Given the description of an element on the screen output the (x, y) to click on. 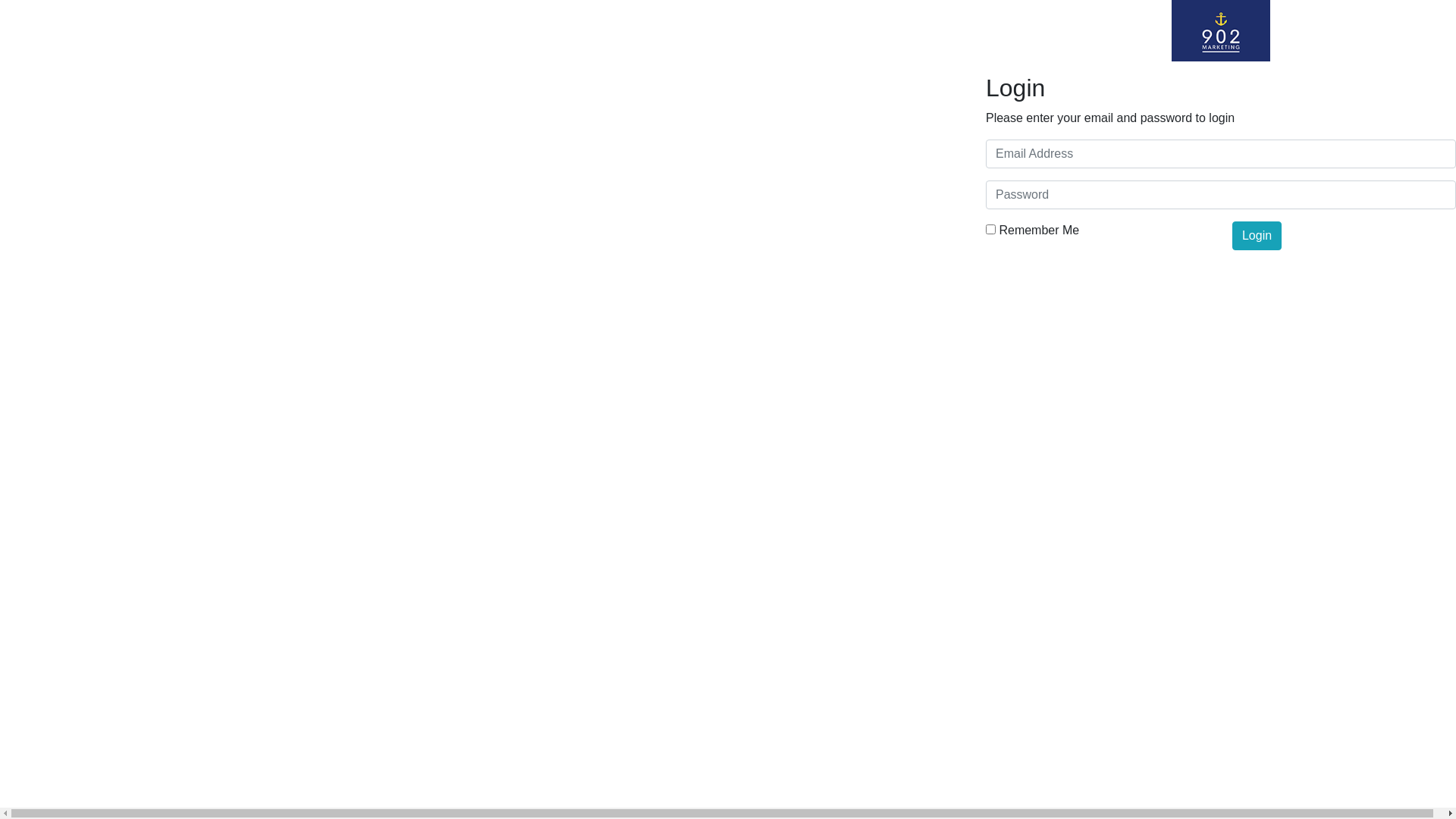
Login Element type: text (1256, 235)
